Given the description of an element on the screen output the (x, y) to click on. 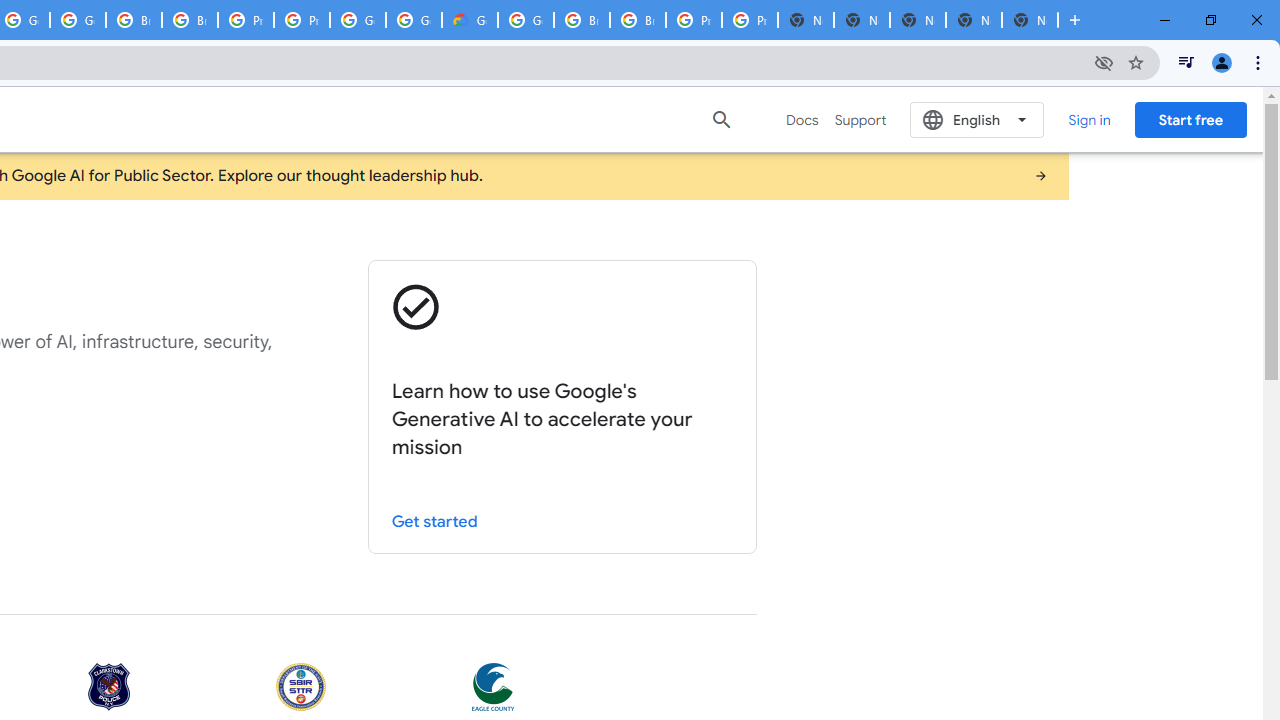
U.S. Navy (301, 687)
Docs (802, 119)
Browse Chrome as a guest - Computer - Google Chrome Help (134, 20)
Google Cloud Platform (525, 20)
